Given the description of an element on the screen output the (x, y) to click on. 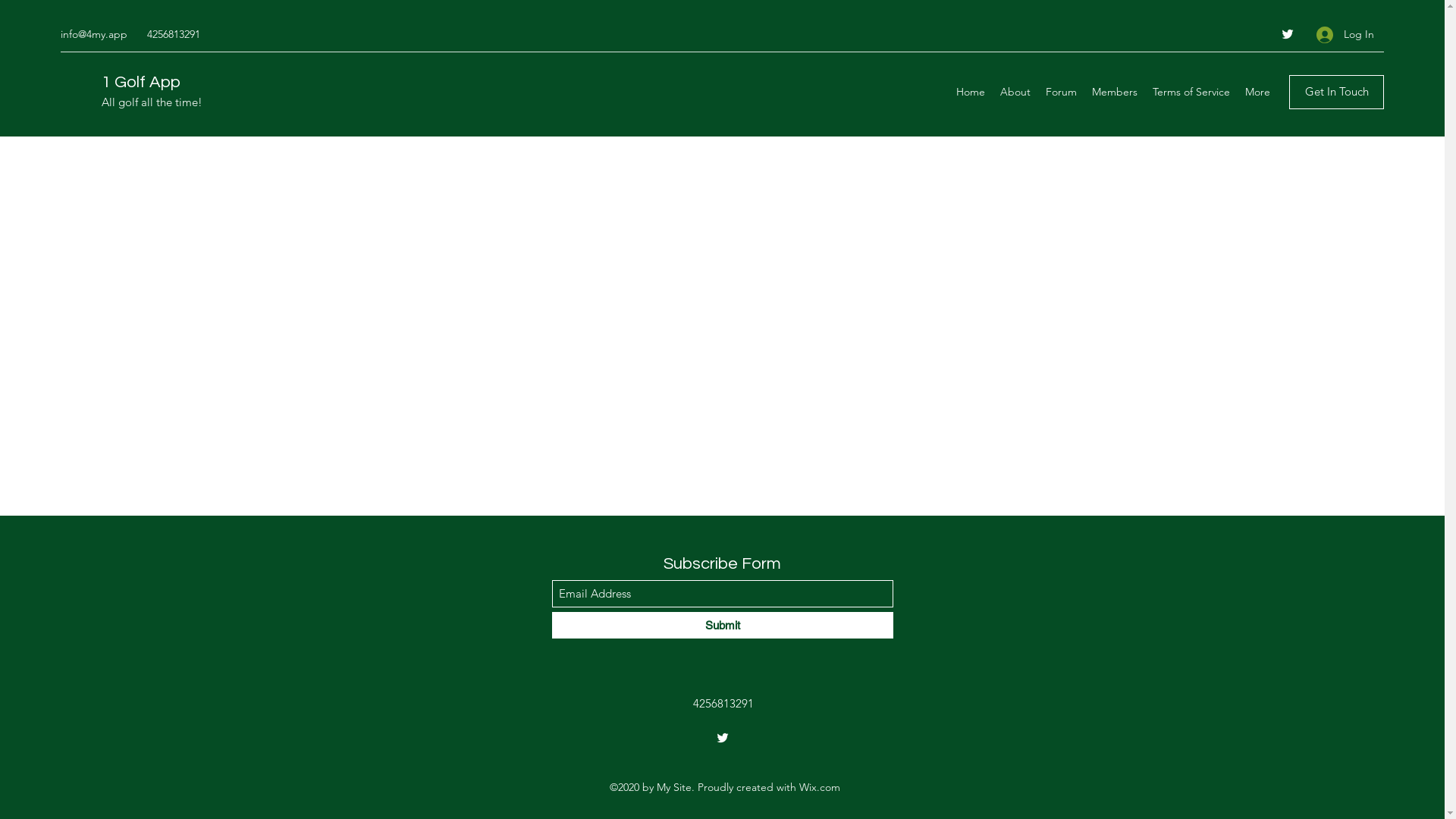
Submit Element type: text (722, 624)
info@4my.app Element type: text (93, 33)
Forum Element type: text (1061, 91)
Members Element type: text (1114, 91)
About Element type: text (1015, 91)
Terms of Service Element type: text (1191, 91)
Home Element type: text (970, 91)
Log In Element type: text (1344, 34)
